Given the description of an element on the screen output the (x, y) to click on. 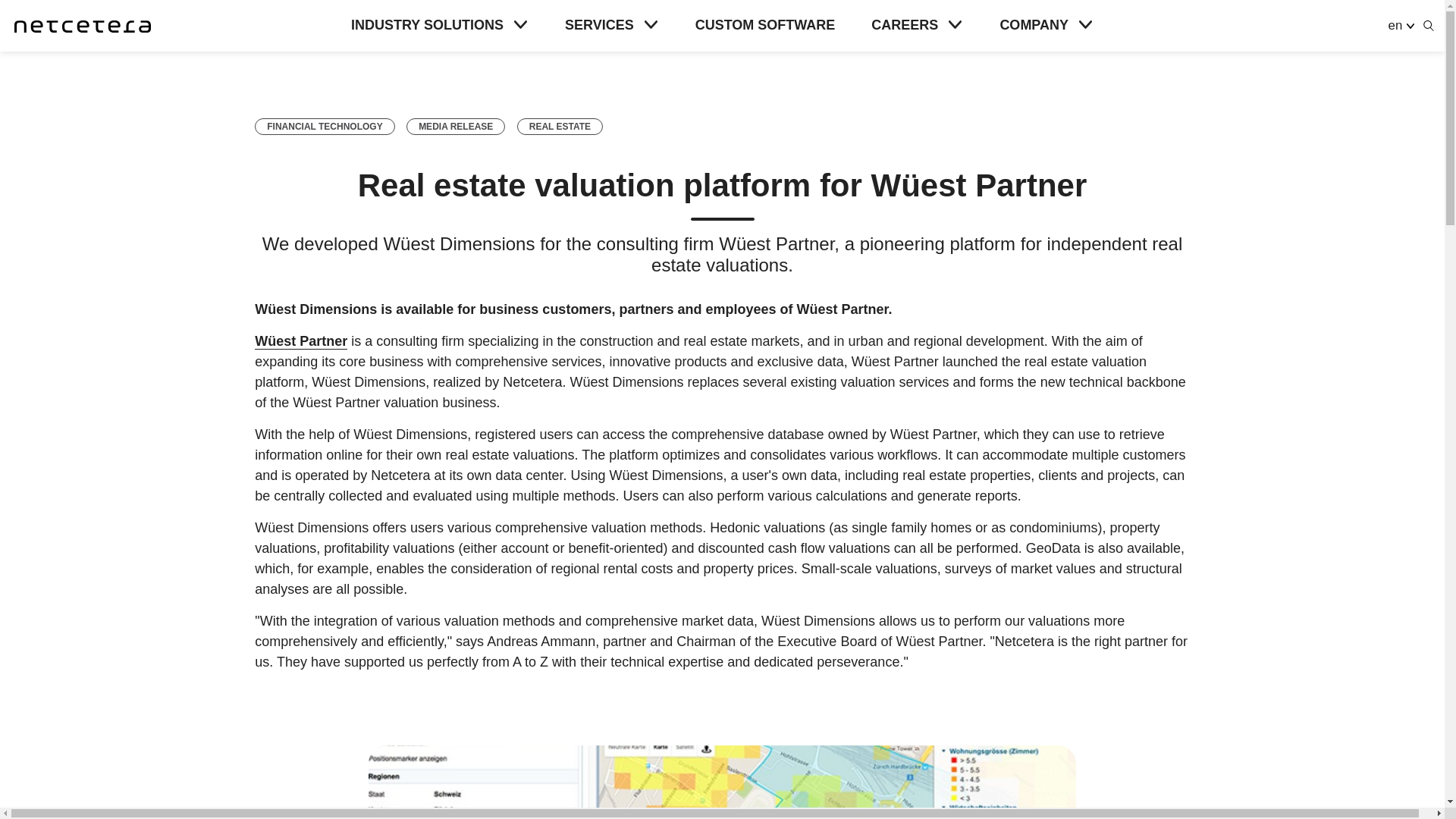
INDUSTRY SOLUTIONS (439, 25)
CAREERS (916, 25)
en (1399, 25)
A 25-year success story in digital Banking (324, 126)
COMPANY (1045, 25)
SERVICES (611, 25)
CUSTOM SOFTWARE (765, 25)
